Given the description of an element on the screen output the (x, y) to click on. 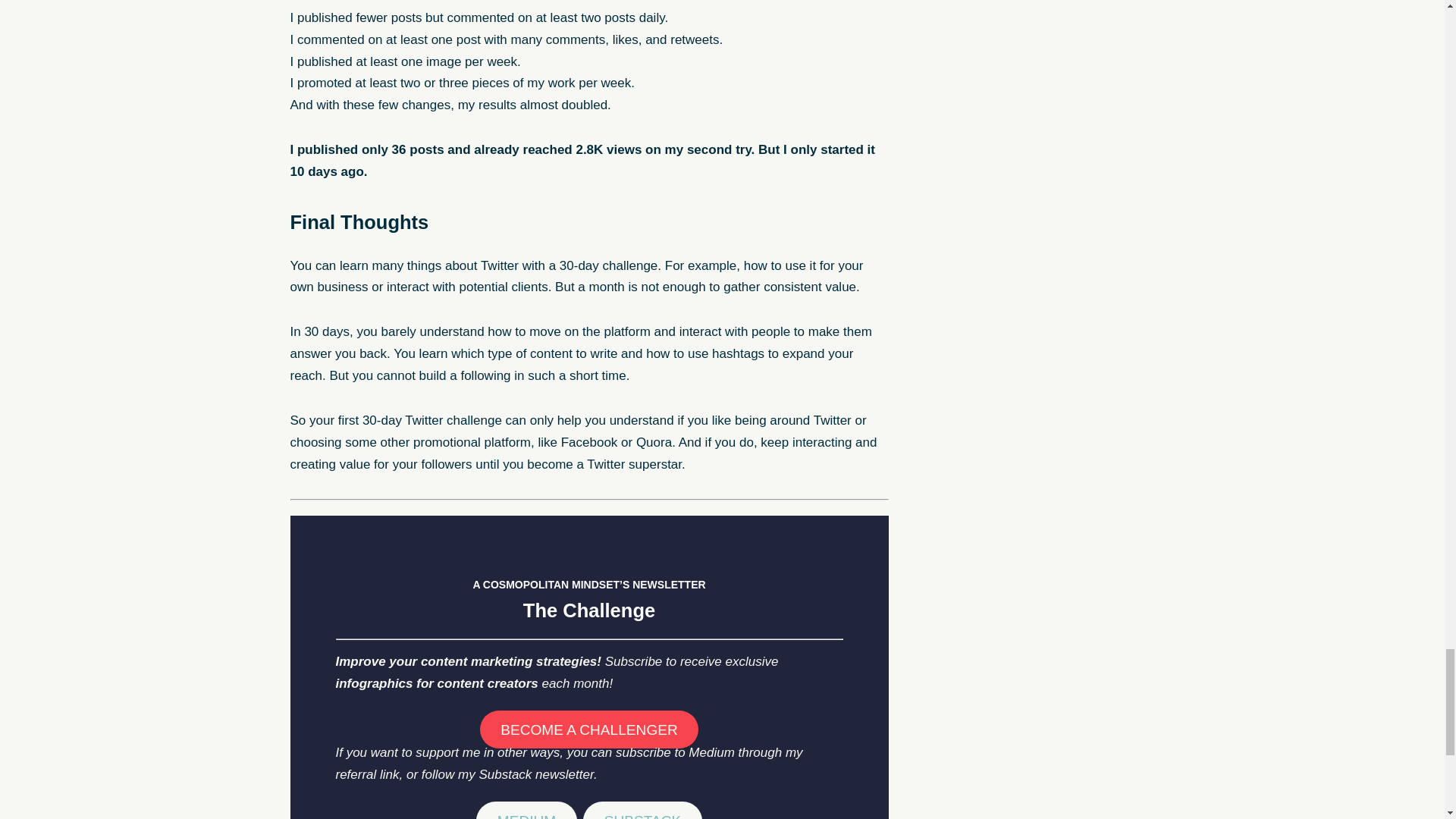
BECOME A CHALLENGER (589, 729)
SUBSTACK (642, 810)
MEDIUM (526, 810)
